Given the description of an element on the screen output the (x, y) to click on. 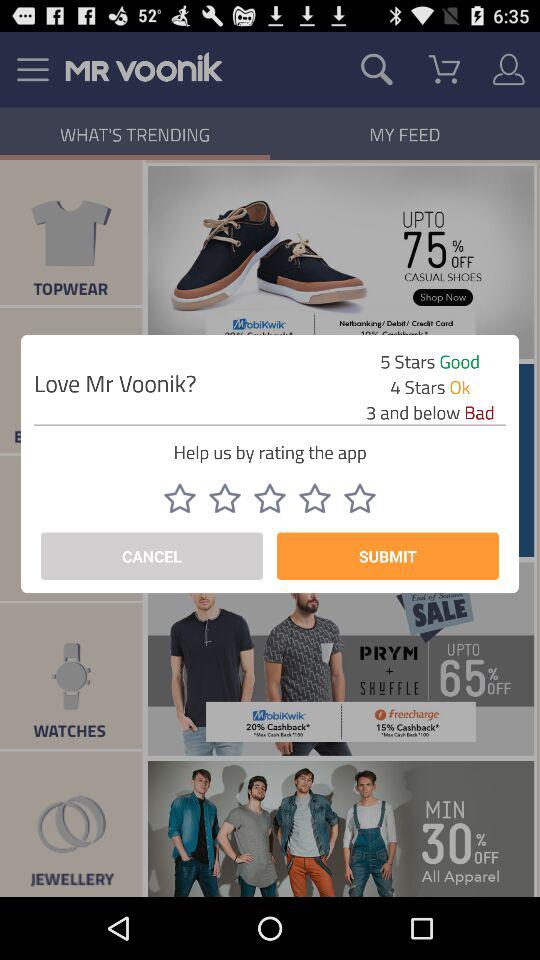
turn on the item above submit item (359, 498)
